Given the description of an element on the screen output the (x, y) to click on. 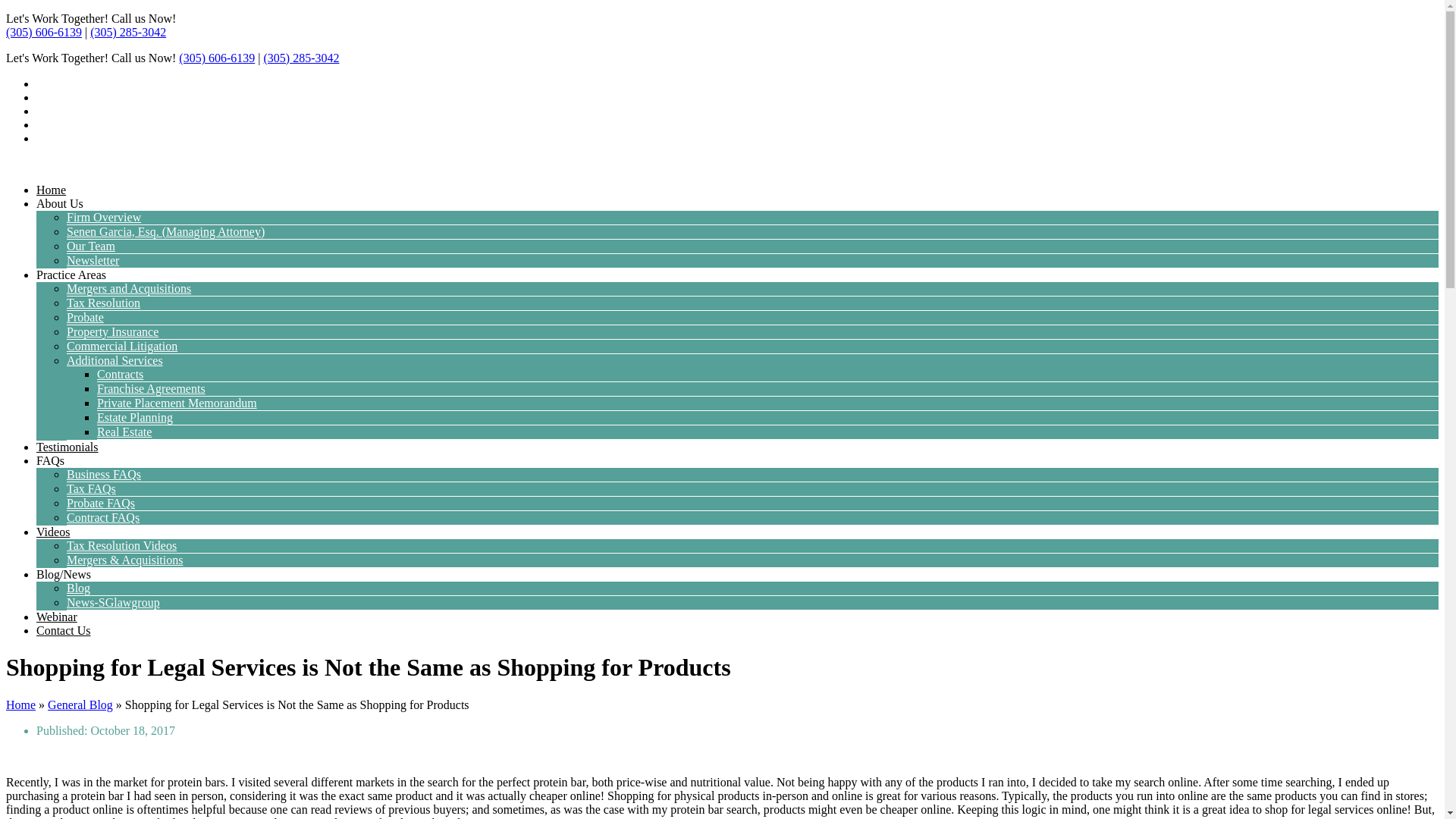
Franchise Agreements (151, 388)
News-SGlawgroup (113, 602)
Commercial Litigation (121, 345)
Mergers and Acquisitions (128, 287)
Tax FAQs (91, 488)
Testimonials (67, 446)
Additional Services (114, 359)
FAQs (50, 460)
Blog (78, 587)
Estate Planning (135, 417)
